Given the description of an element on the screen output the (x, y) to click on. 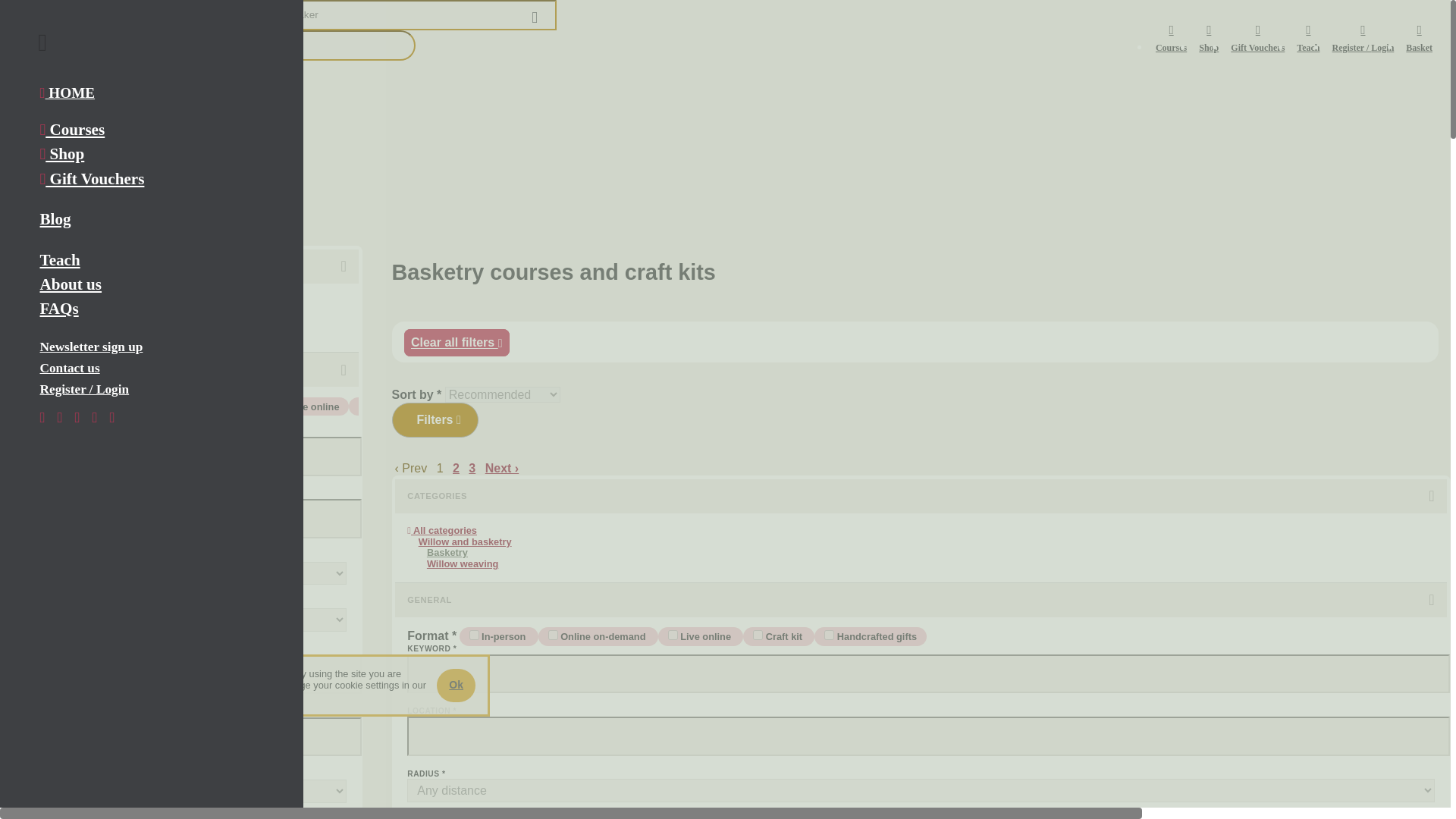
Courses (148, 129)
craft-kits (21, 418)
handcrafted-gifts (92, 418)
Willow and basketry (46, 200)
CATEGORIES (181, 266)
Gift Vouchers (148, 178)
About us (148, 283)
Shop (148, 153)
Close navigation (41, 42)
Categories (24, 188)
HOME (148, 93)
Teach (148, 259)
online-on-demand-courses (160, 404)
Willow and basketry (181, 311)
FAQs (148, 308)
